Given the description of an element on the screen output the (x, y) to click on. 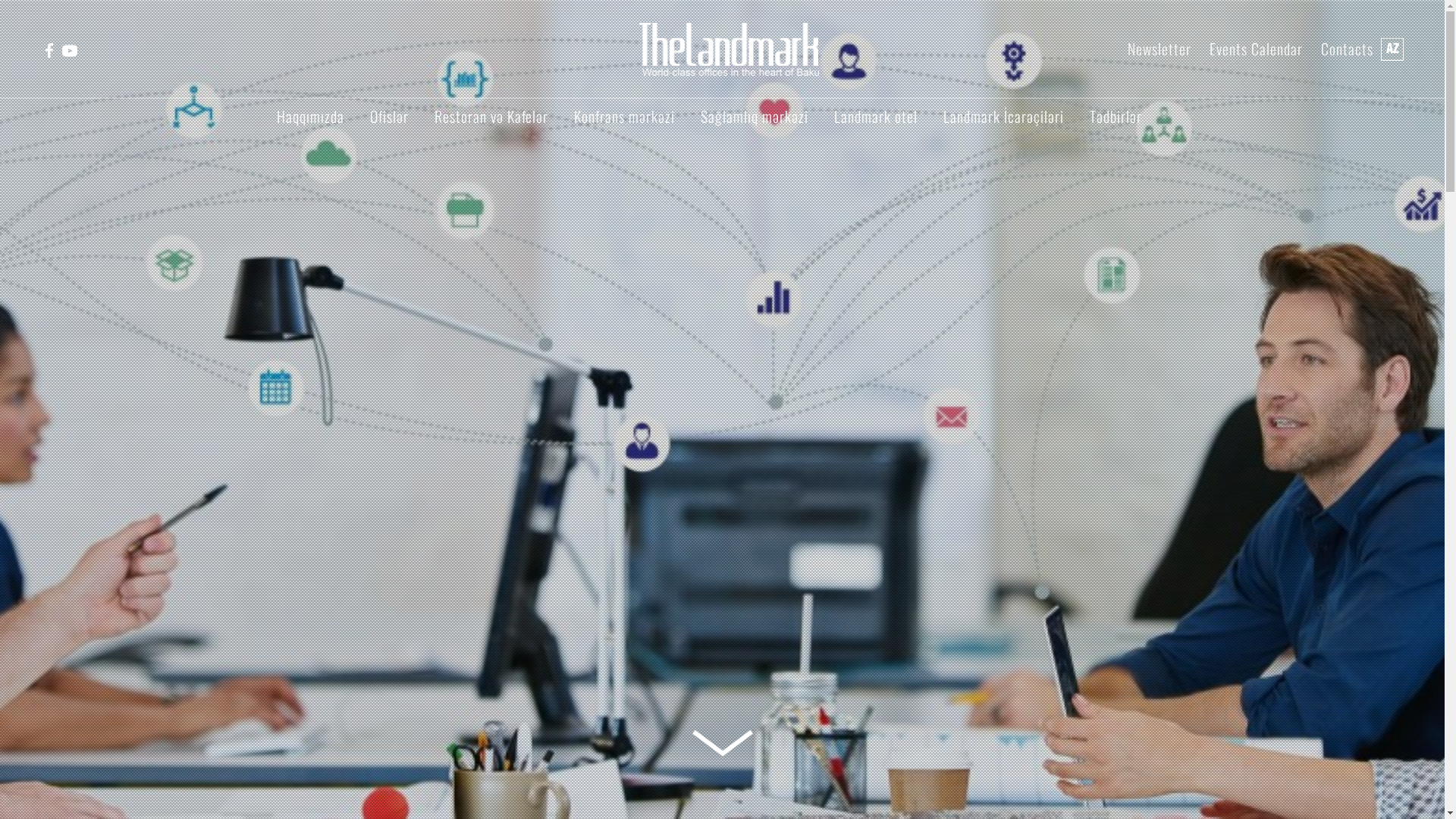
Contacts Element type: text (1347, 48)
Landmark otel Element type: text (875, 115)
Events Calendar Element type: text (1255, 48)
Newsletter Element type: text (1159, 48)
